Given the description of an element on the screen output the (x, y) to click on. 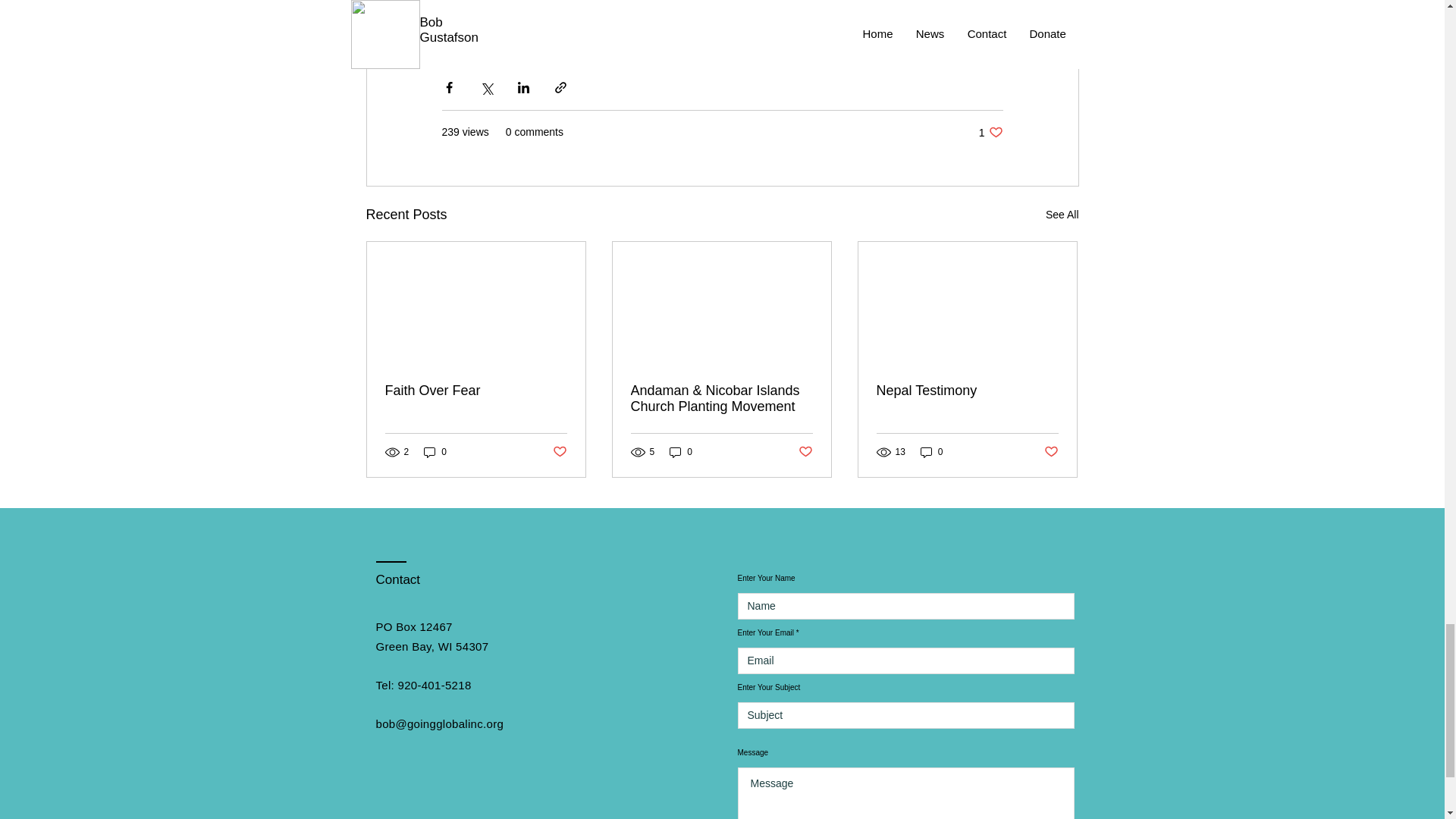
Faith Over Fear (476, 390)
0 (435, 452)
Post not marked as liked (558, 452)
Nepal Testimony (967, 390)
0 (931, 452)
Post not marked as liked (804, 452)
Post not marked as liked (1050, 452)
0 (990, 132)
See All (681, 452)
